Given the description of an element on the screen output the (x, y) to click on. 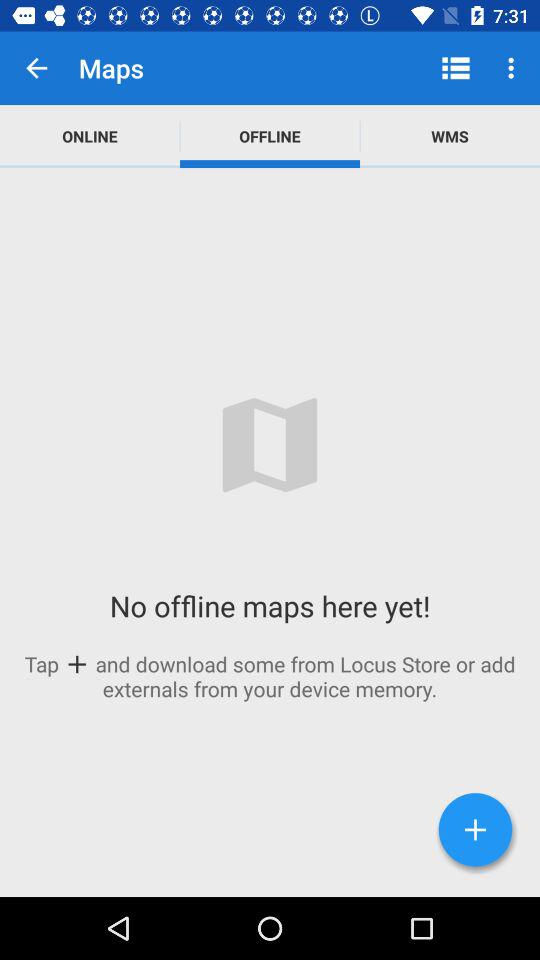
tap app above the wms item (513, 67)
